Given the description of an element on the screen output the (x, y) to click on. 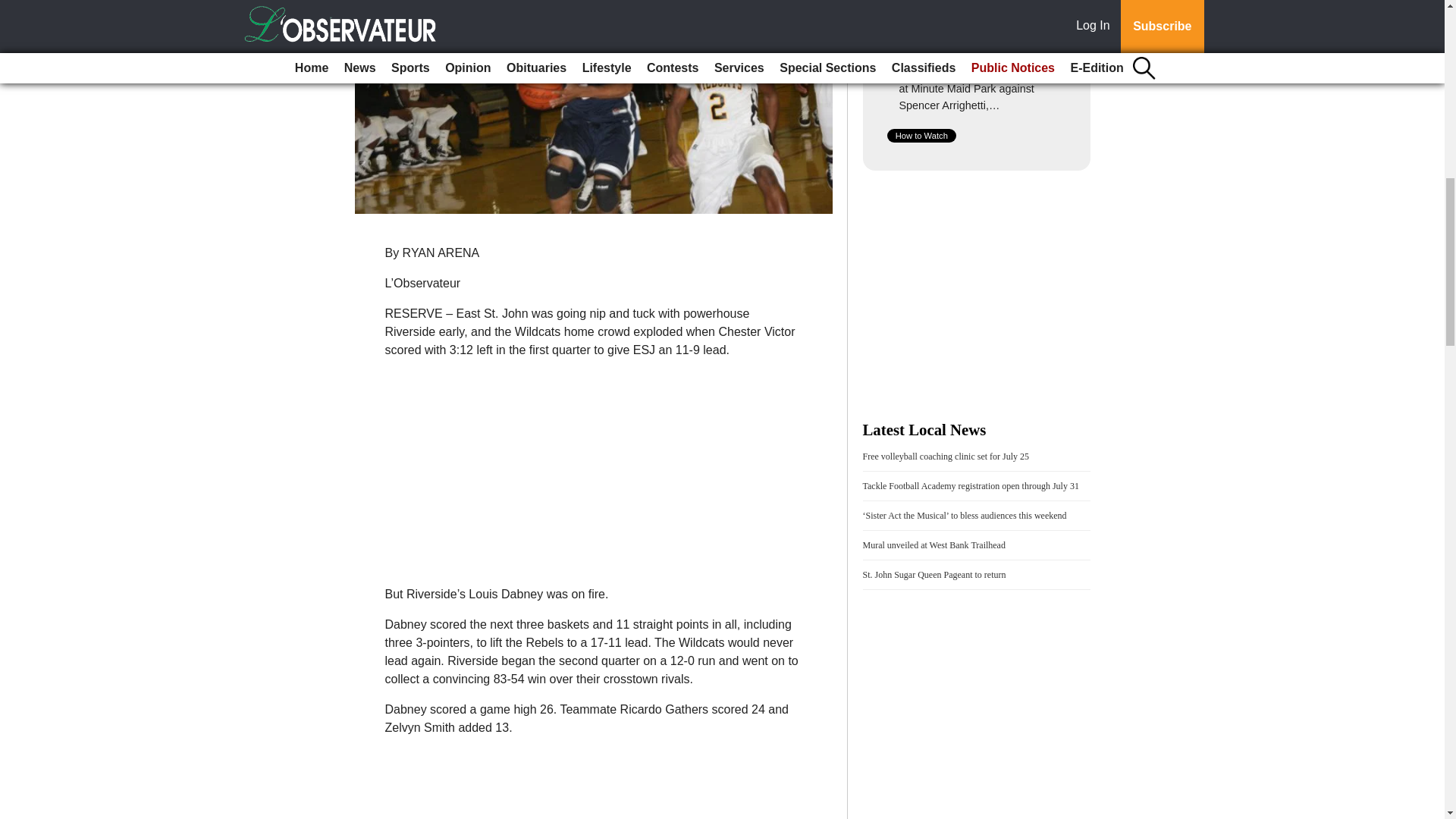
How to Watch (921, 135)
Free volleyball coaching clinic set for July 25 (946, 456)
St. John Sugar Queen Pageant to return (934, 574)
Tackle Football Academy registration open through July 31 (970, 485)
Mural unveiled at West Bank Trailhead (934, 544)
